Given the description of an element on the screen output the (x, y) to click on. 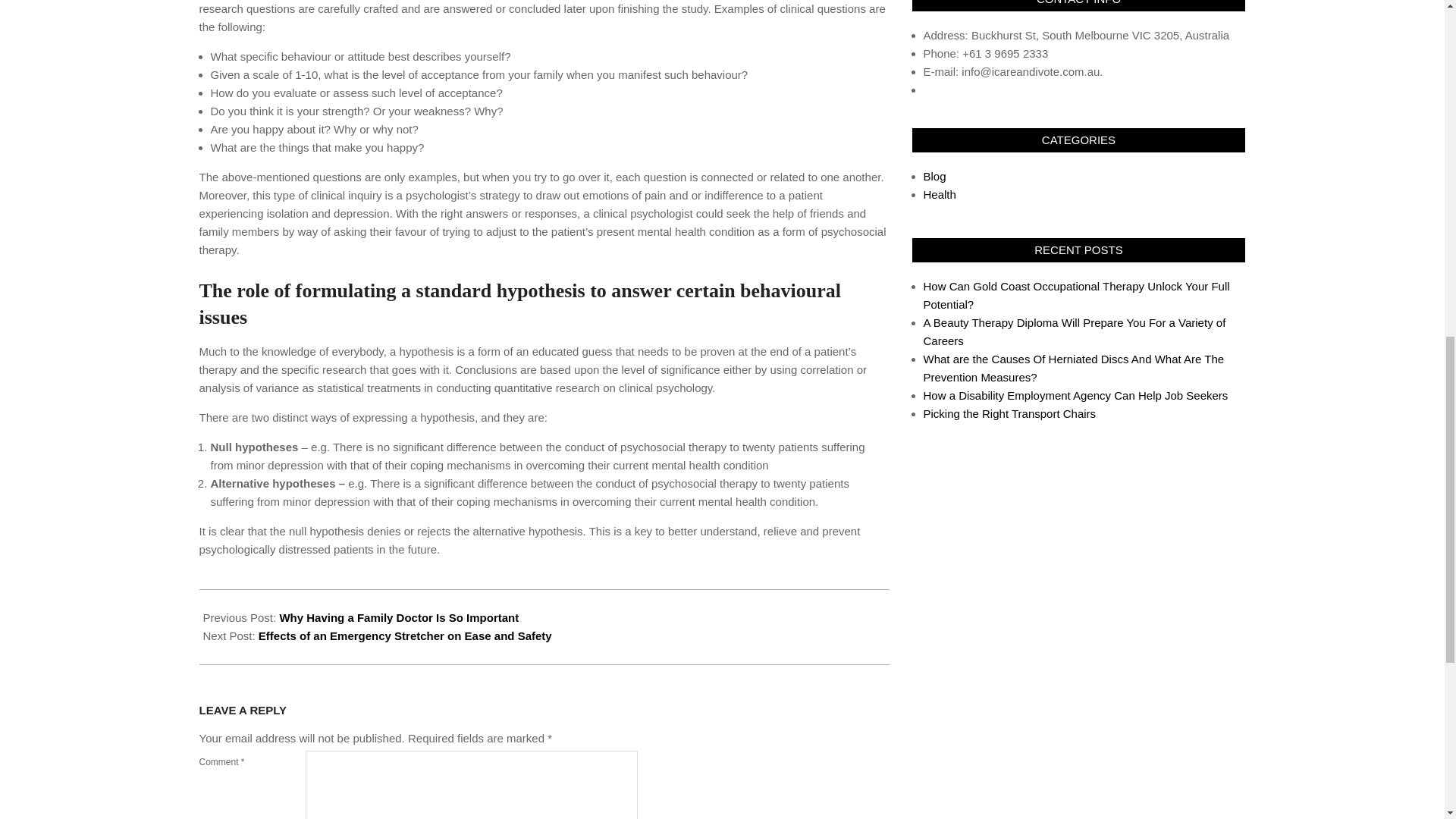
Effects of an Emergency Stretcher on Ease and Safety (405, 635)
Picking the Right Transport Chairs (1009, 413)
Health (939, 194)
Why Having a Family Doctor Is So Important (398, 617)
Blog (934, 175)
How a Disability Employment Agency Can Help Job Seekers (1075, 395)
